Given the description of an element on the screen output the (x, y) to click on. 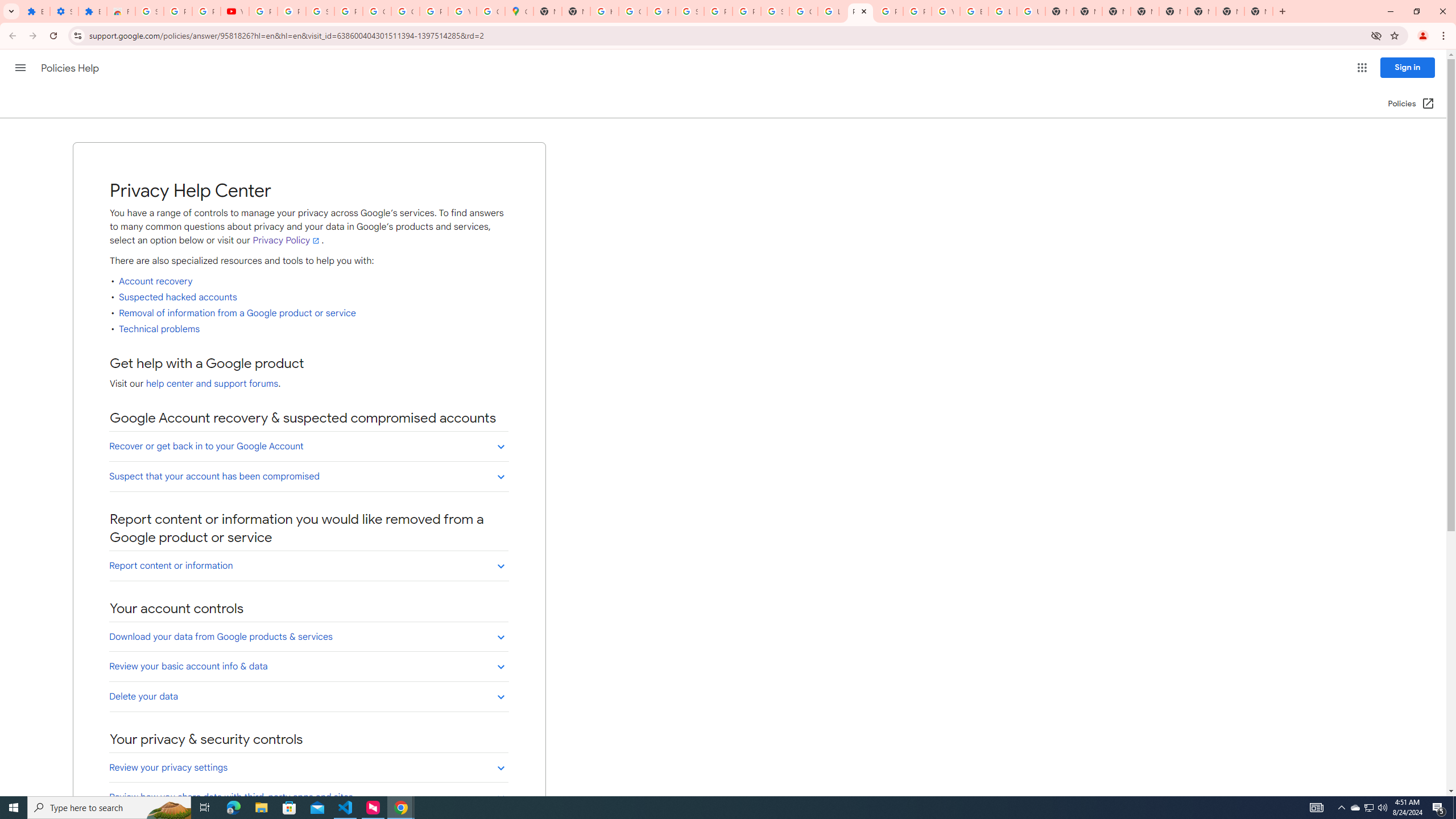
Suspect that your account has been compromised (308, 476)
Recover or get back in to your Google Account (308, 445)
Google Account (377, 11)
Report content or information (308, 565)
Policies Help (70, 68)
Extensions (92, 11)
Download your data from Google products & services (308, 636)
Delete your data (308, 696)
